Given the description of an element on the screen output the (x, y) to click on. 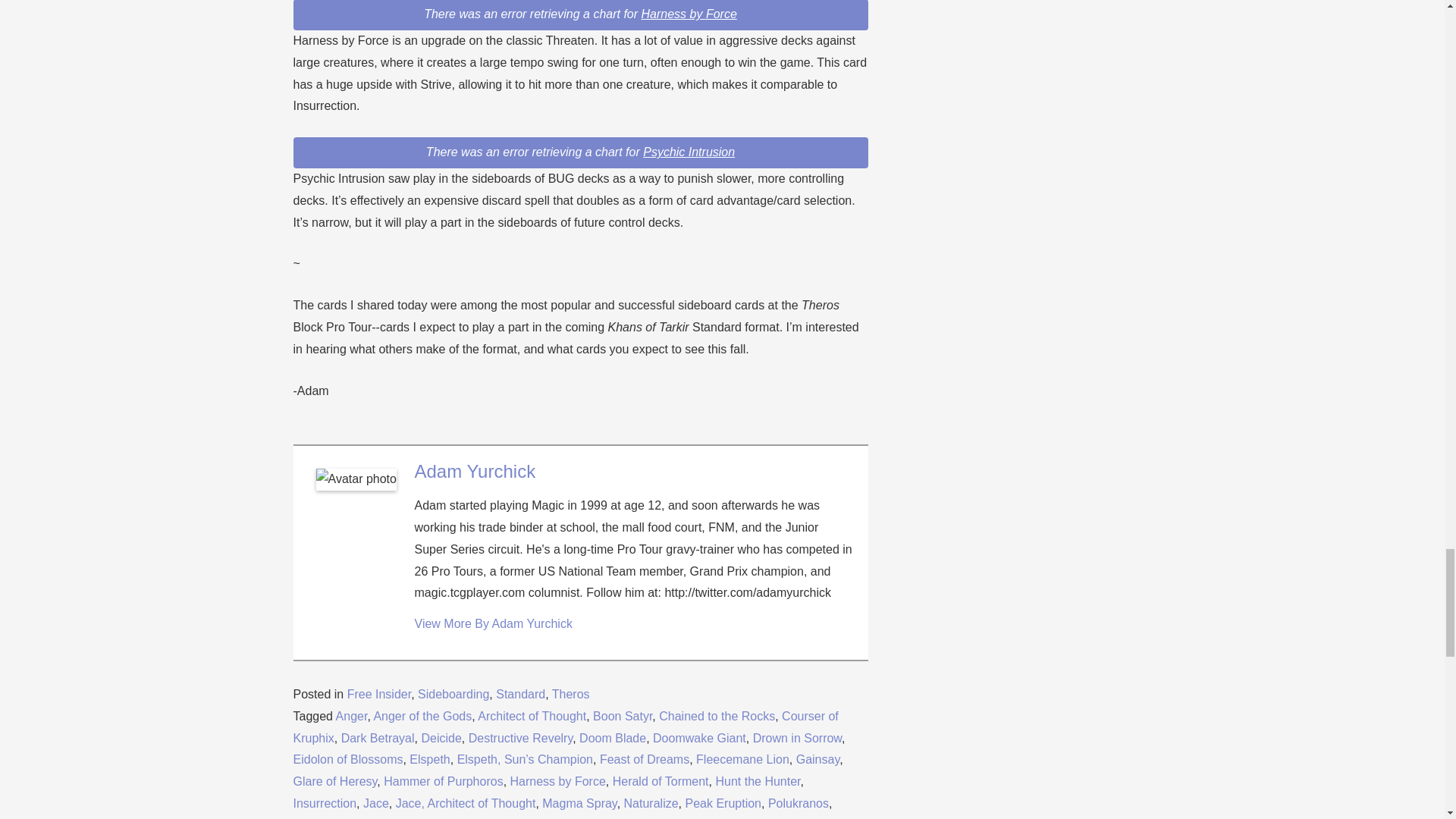
Adam Yurchick (474, 471)
More posts by Adam Yurchick (492, 623)
